Given the description of an element on the screen output the (x, y) to click on. 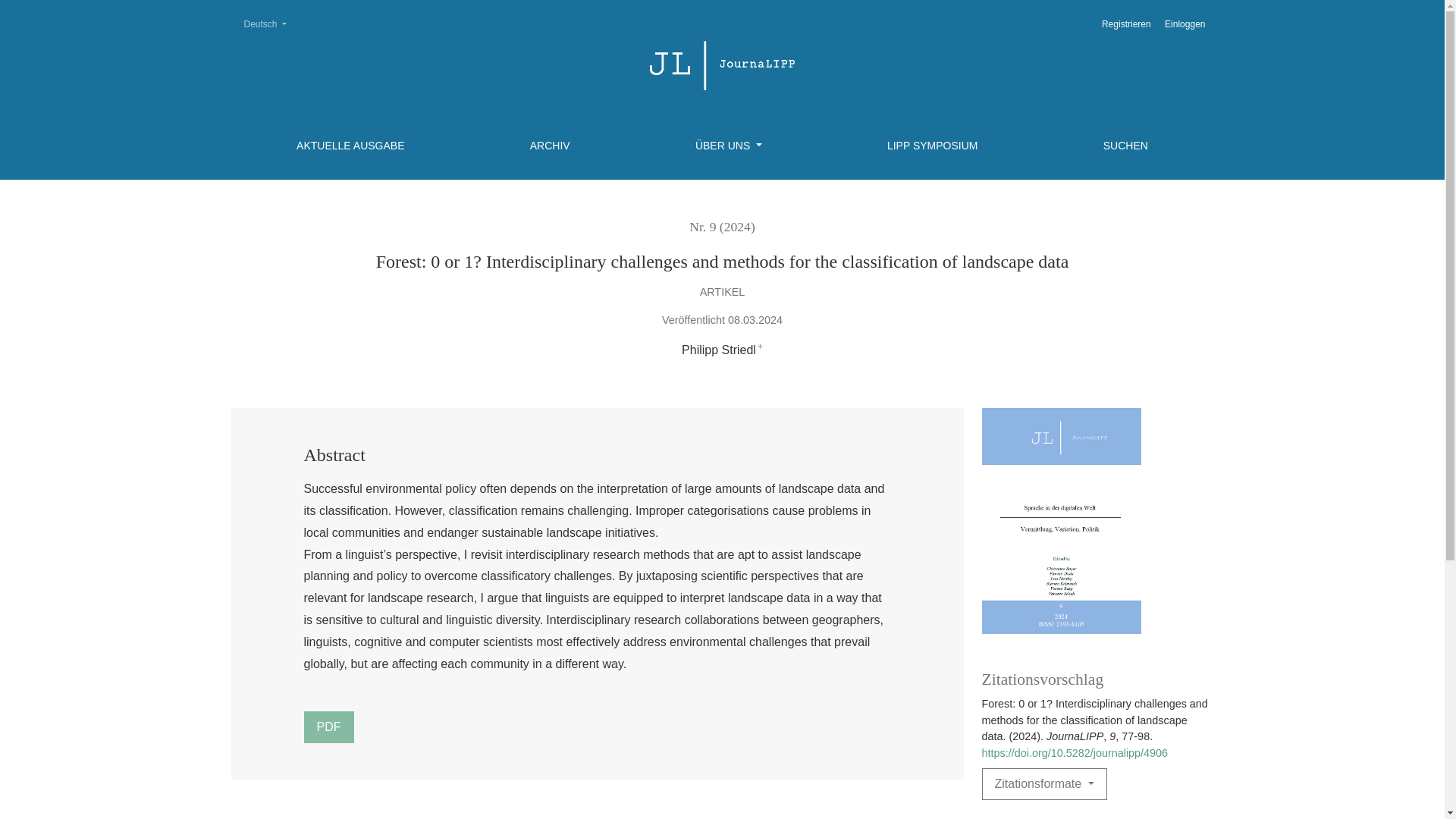
Zitationsformate (1043, 784)
AKTUELLE AUSGABE (349, 145)
Einloggen (1183, 24)
ARCHIV (263, 24)
Registrieren (549, 145)
LIPP SYMPOSIUM (1126, 24)
SUCHEN (933, 145)
